Given the description of an element on the screen output the (x, y) to click on. 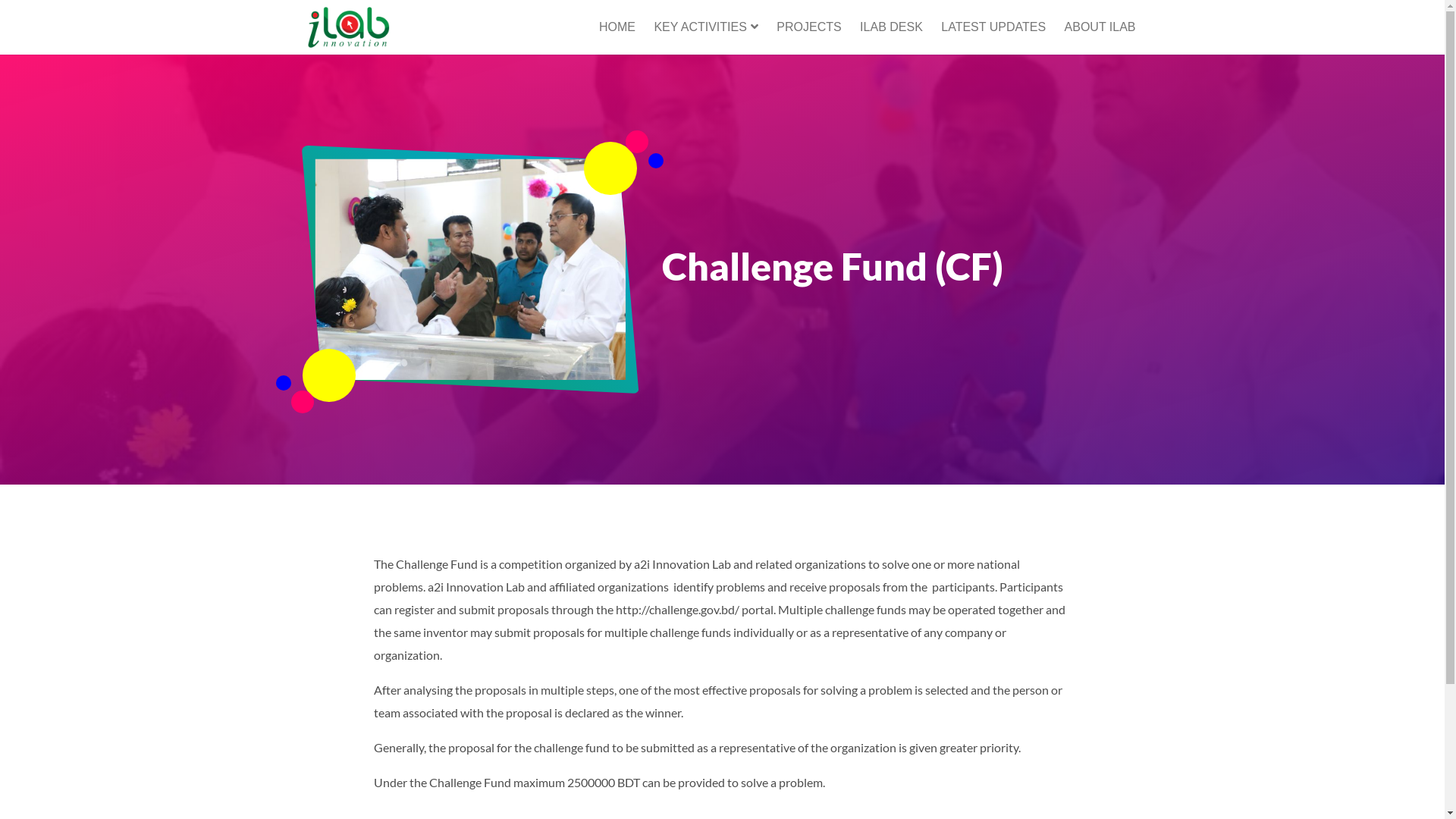
ILAB DESK Element type: text (890, 27)
HOME Element type: text (617, 27)
LATEST UPDATES Element type: text (993, 27)
ABOUT ILAB Element type: text (1099, 27)
KEY ACTIVITIES Element type: text (705, 26)
PROJECTS Element type: text (808, 27)
